Given the description of an element on the screen output the (x, y) to click on. 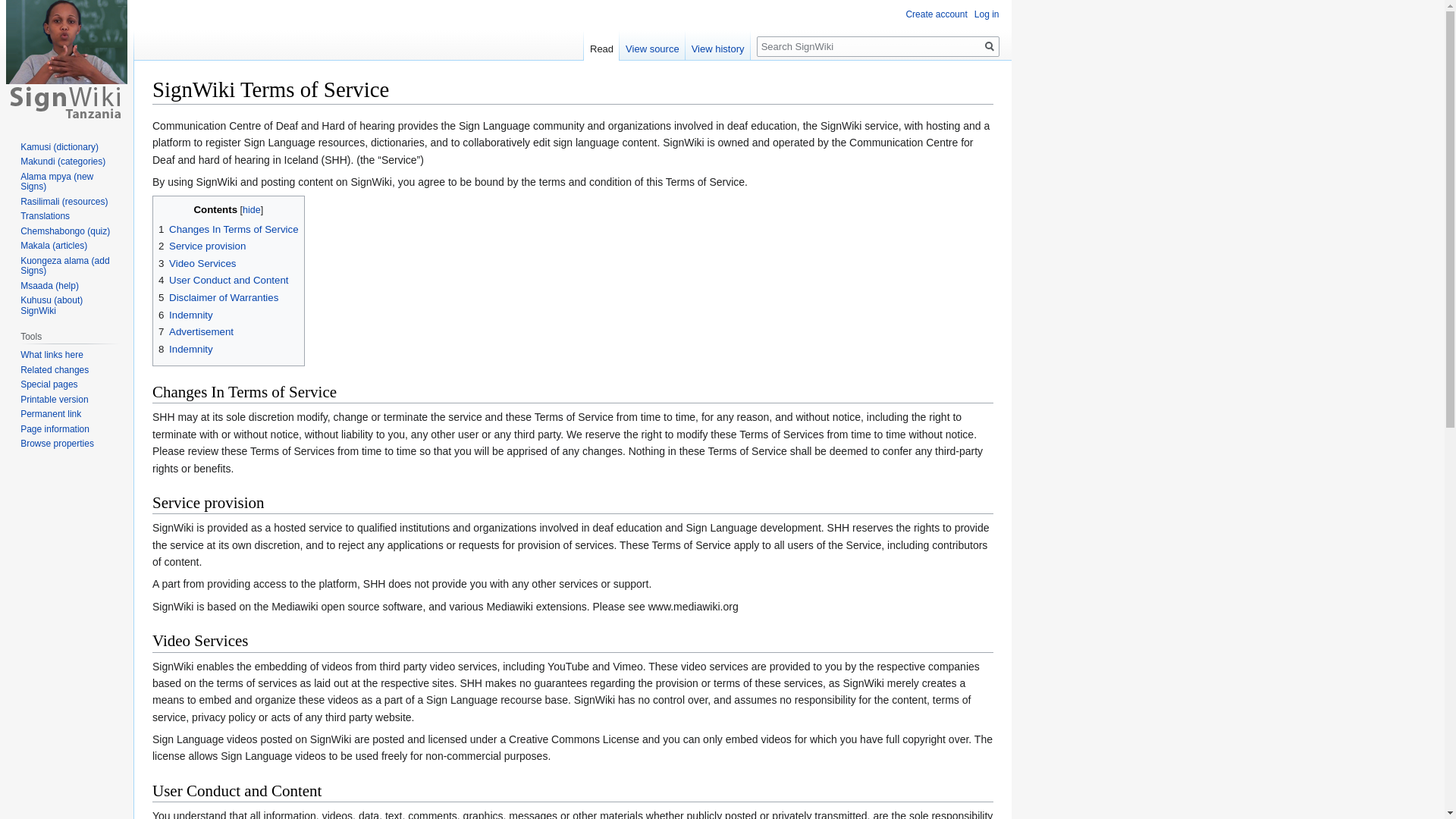
View history (718, 45)
2 Service provision (202, 245)
5 Disclaimer of Warranties (218, 297)
Go (988, 46)
Search pages for this text (988, 46)
3 Video Services (196, 263)
Create account (935, 14)
7 Advertisement (195, 331)
Translations (44, 215)
8 Indemnity (185, 348)
Go (988, 46)
Search (988, 46)
View source (652, 45)
4 User Conduct and Content (223, 279)
1 Changes In Terms of Service (228, 229)
